Given the description of an element on the screen output the (x, y) to click on. 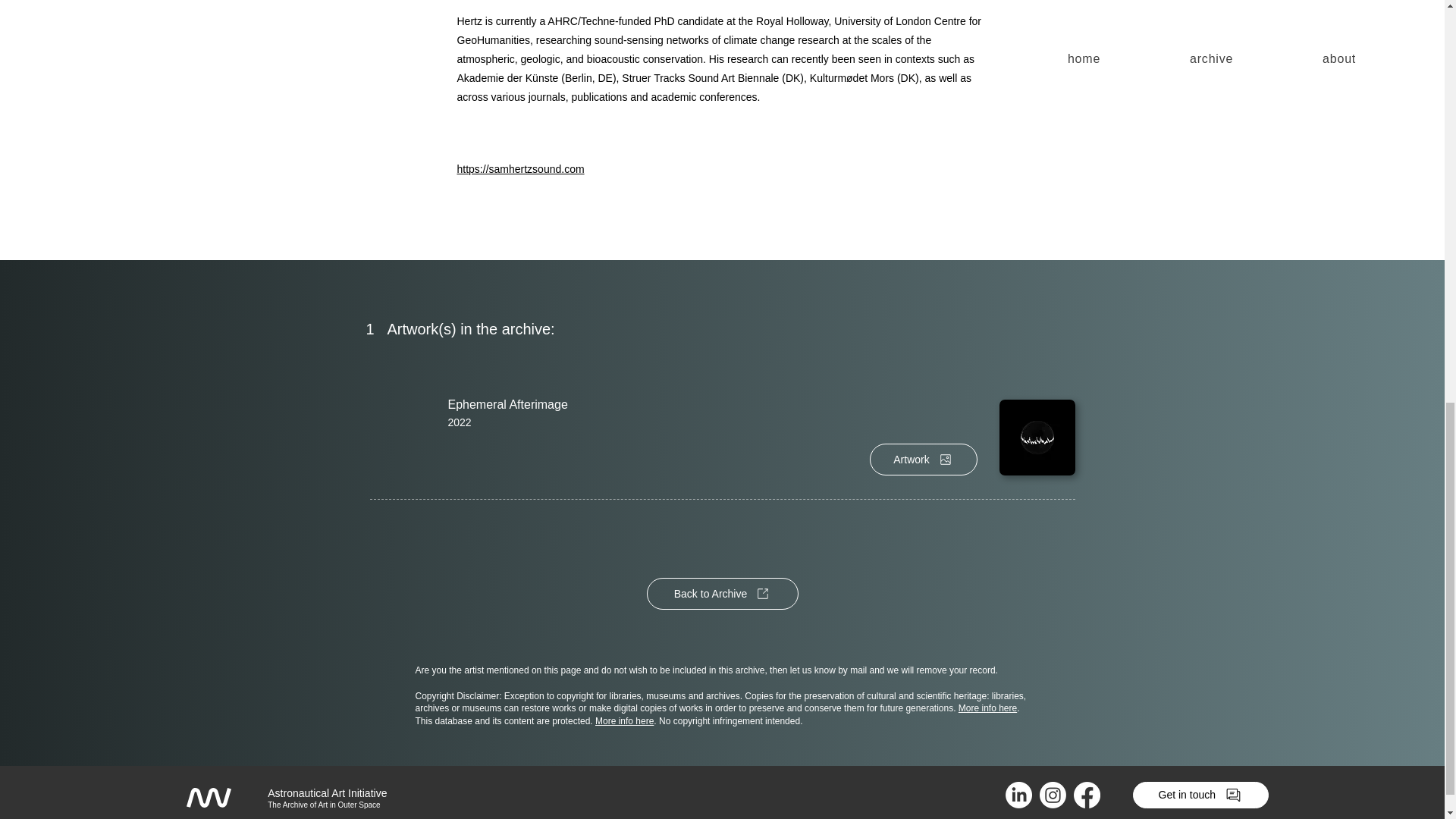
More info here (624, 720)
Artwork (922, 459)
Back to Archive (721, 593)
Get in touch (1200, 795)
More info here (987, 707)
